Given the description of an element on the screen output the (x, y) to click on. 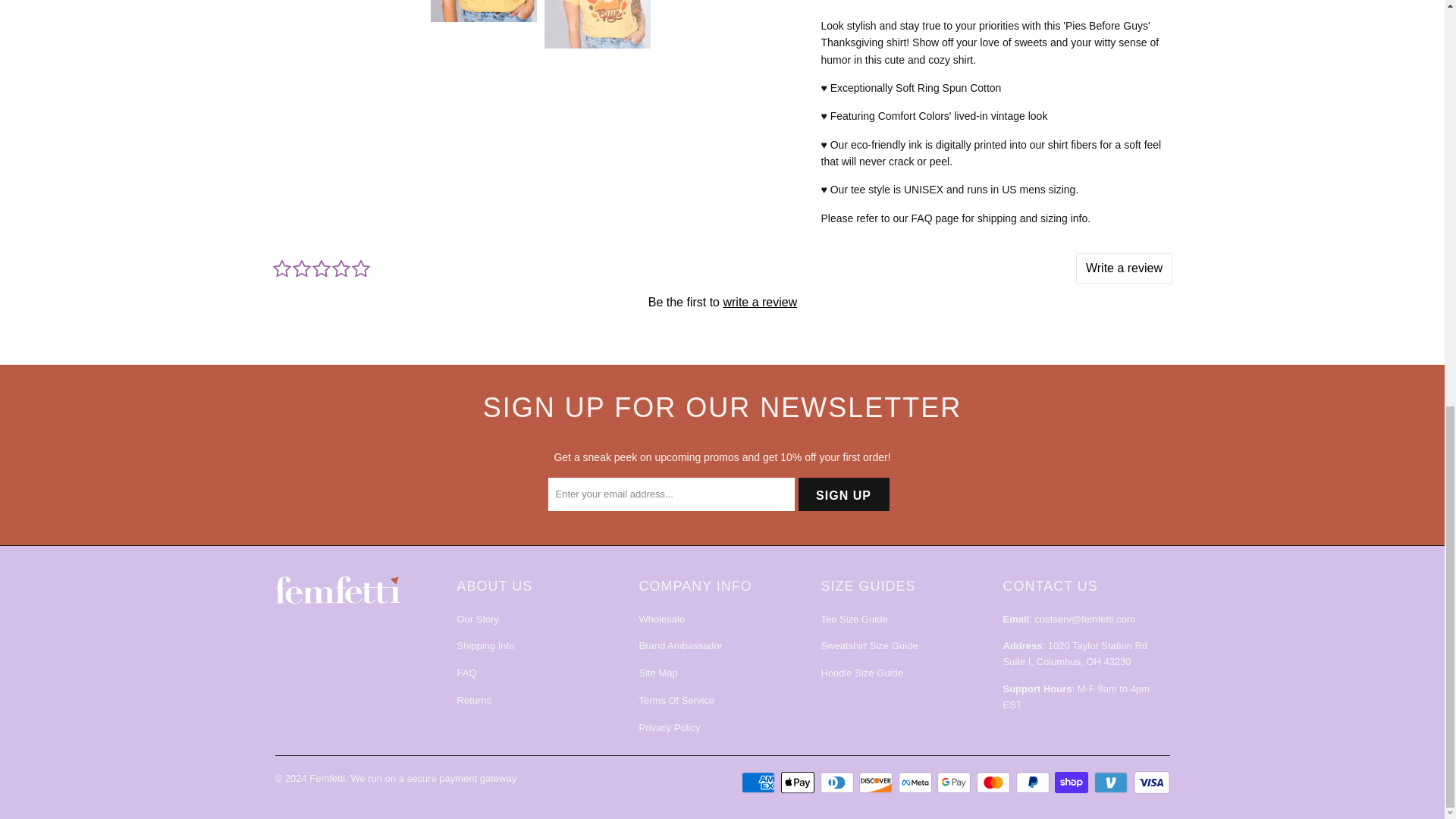
American Express (759, 782)
Discover (877, 782)
Meta Pay (916, 782)
Shop Pay (1072, 782)
Visa (1150, 782)
Venmo (1112, 782)
Mastercard (994, 782)
Apple Pay (798, 782)
PayPal (1034, 782)
Google Pay (955, 782)
Diners Club (839, 782)
Sign Up (842, 494)
